Given the description of an element on the screen output the (x, y) to click on. 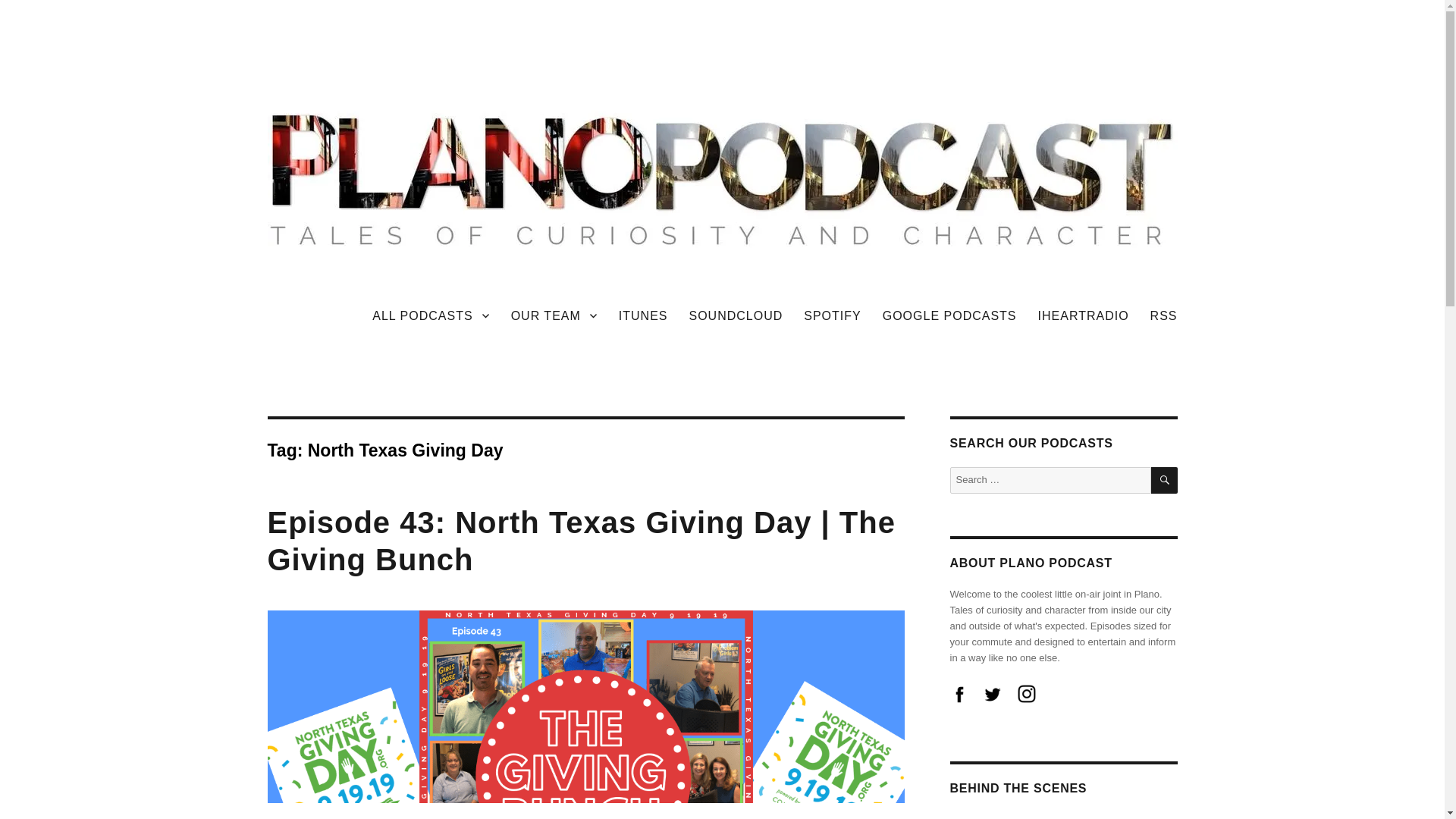
Plano Podcast (339, 312)
ITUNES (643, 315)
ALL PODCASTS (430, 315)
IHEARTRADIO (1083, 315)
Search for: (1049, 479)
SOUNDCLOUD (735, 315)
SPOTIFY (831, 315)
OUR TEAM (554, 315)
GOOGLE PODCASTS (949, 315)
RSS (1164, 315)
